Given the description of an element on the screen output the (x, y) to click on. 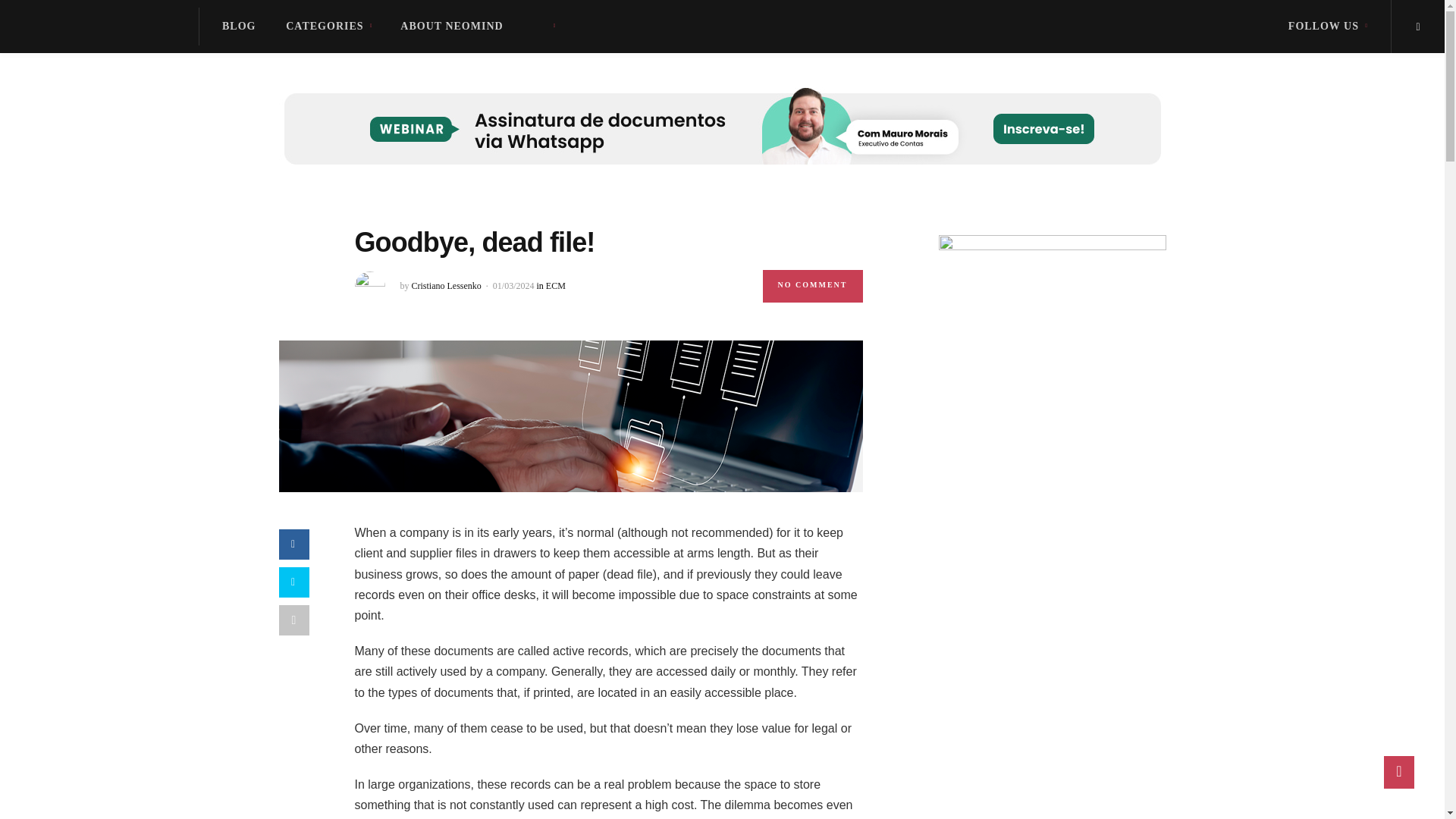
Posts by Cristiano Lessenko (445, 285)
CATEGORIES (327, 26)
ECM (556, 285)
Goodbye, dead file! (571, 414)
ABOUT NEOMIND (451, 26)
Cristiano Lessenko (445, 285)
NO COMMENT (812, 285)
no comment (812, 285)
Tweet (293, 582)
Share this (293, 544)
